Given the description of an element on the screen output the (x, y) to click on. 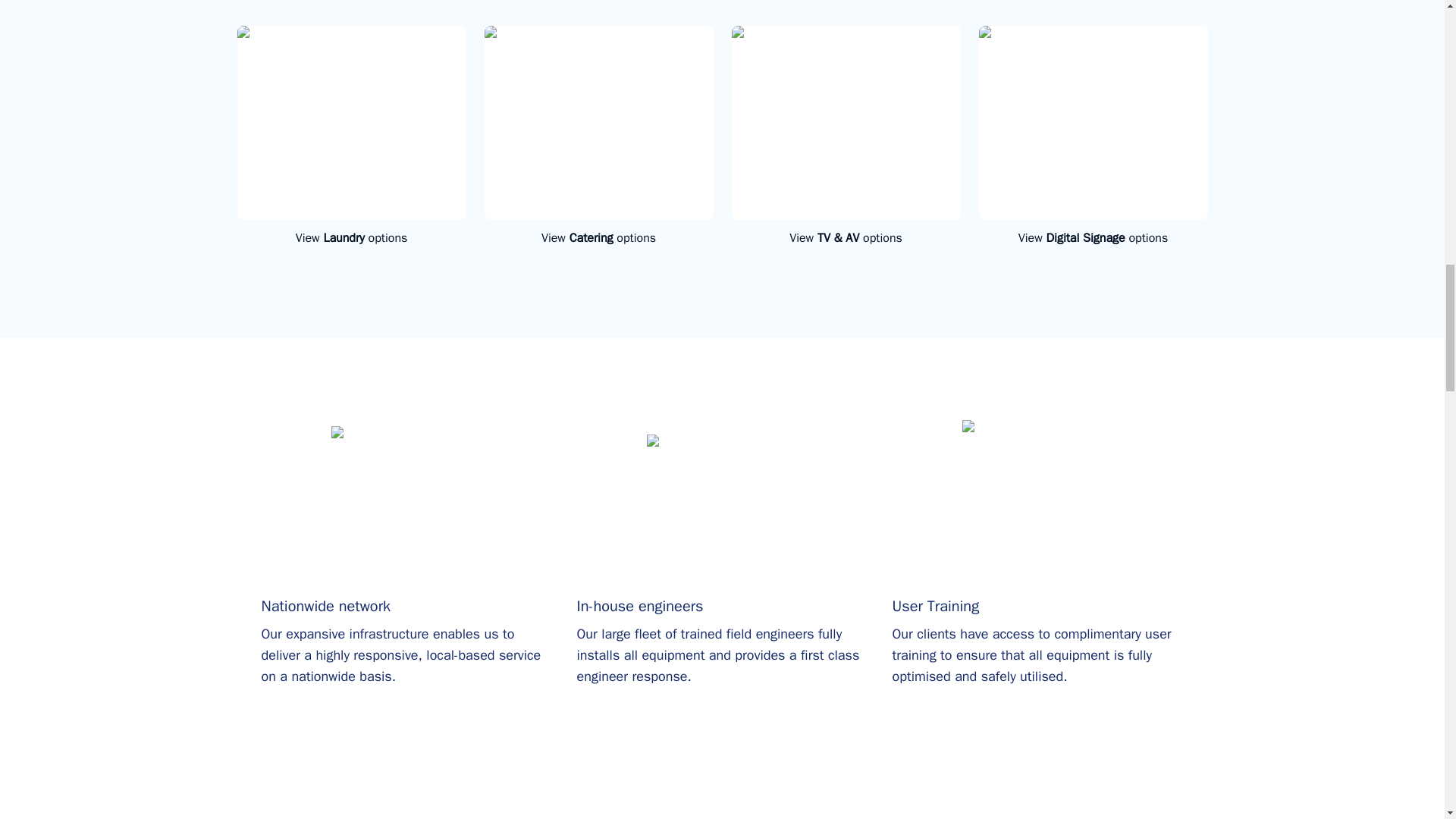
View Laundry options (350, 238)
View Catering options (598, 238)
View Digital Signage options (1092, 238)
